Given the description of an element on the screen output the (x, y) to click on. 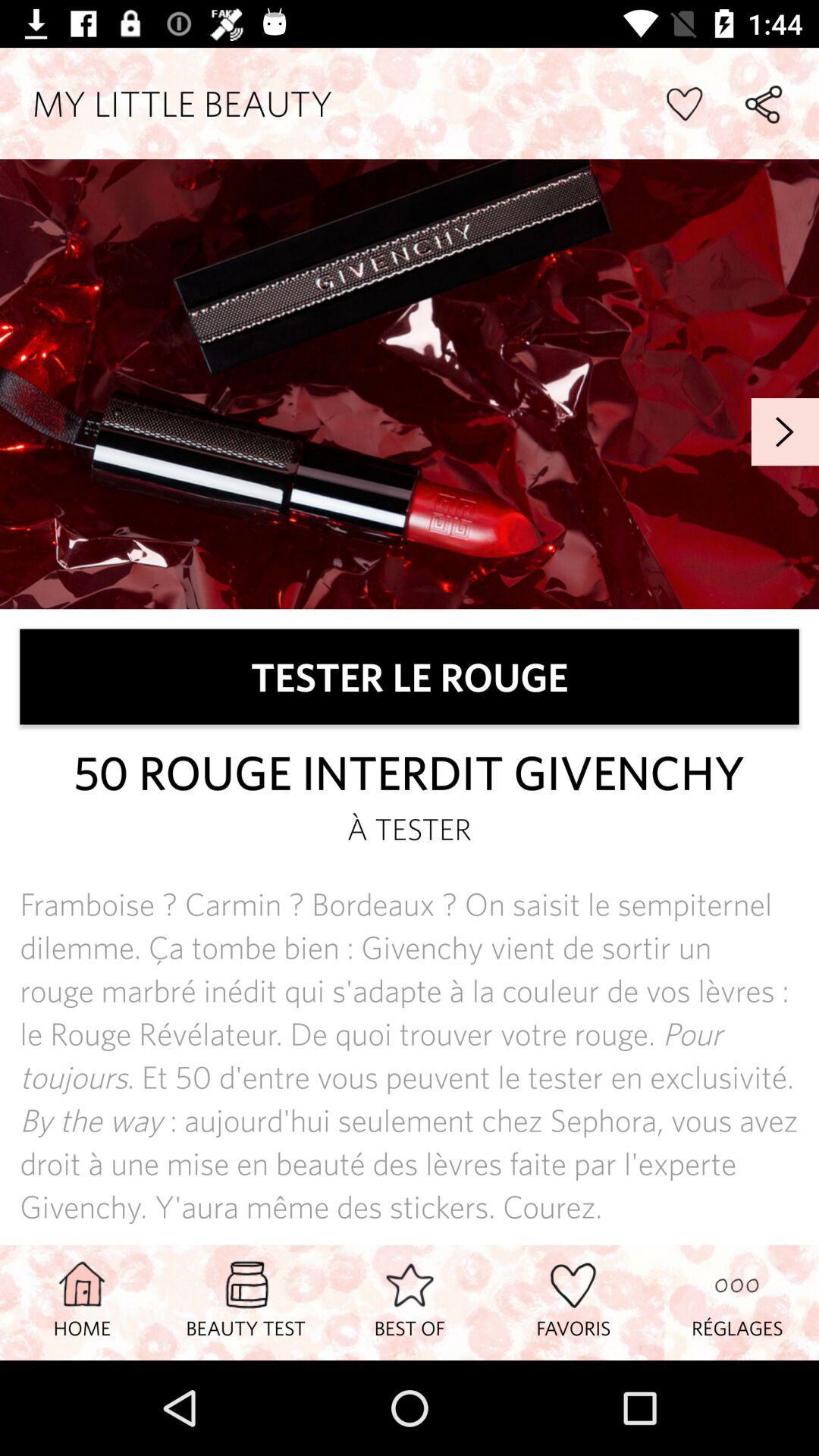
jump to the favoris icon (573, 1302)
